Given the description of an element on the screen output the (x, y) to click on. 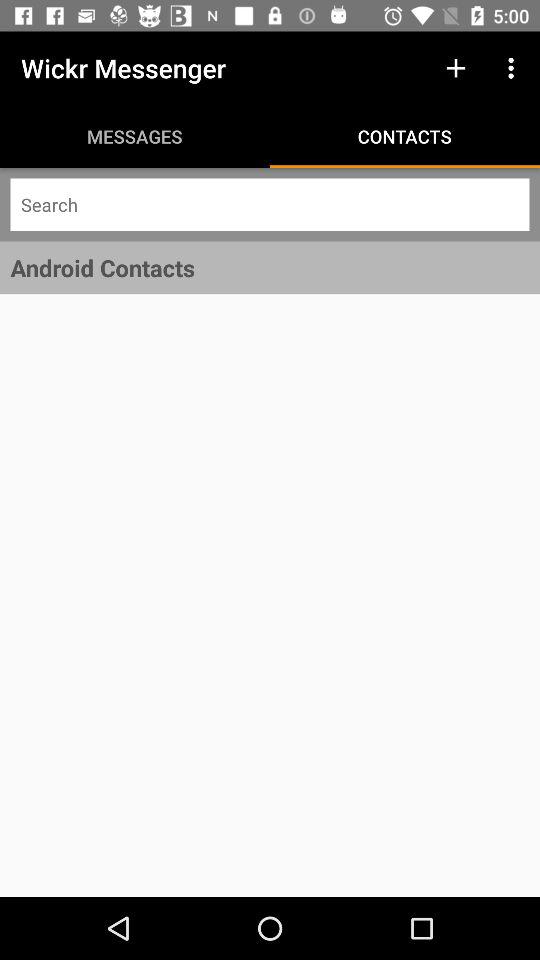
choose icon next to wickr messenger item (455, 67)
